Given the description of an element on the screen output the (x, y) to click on. 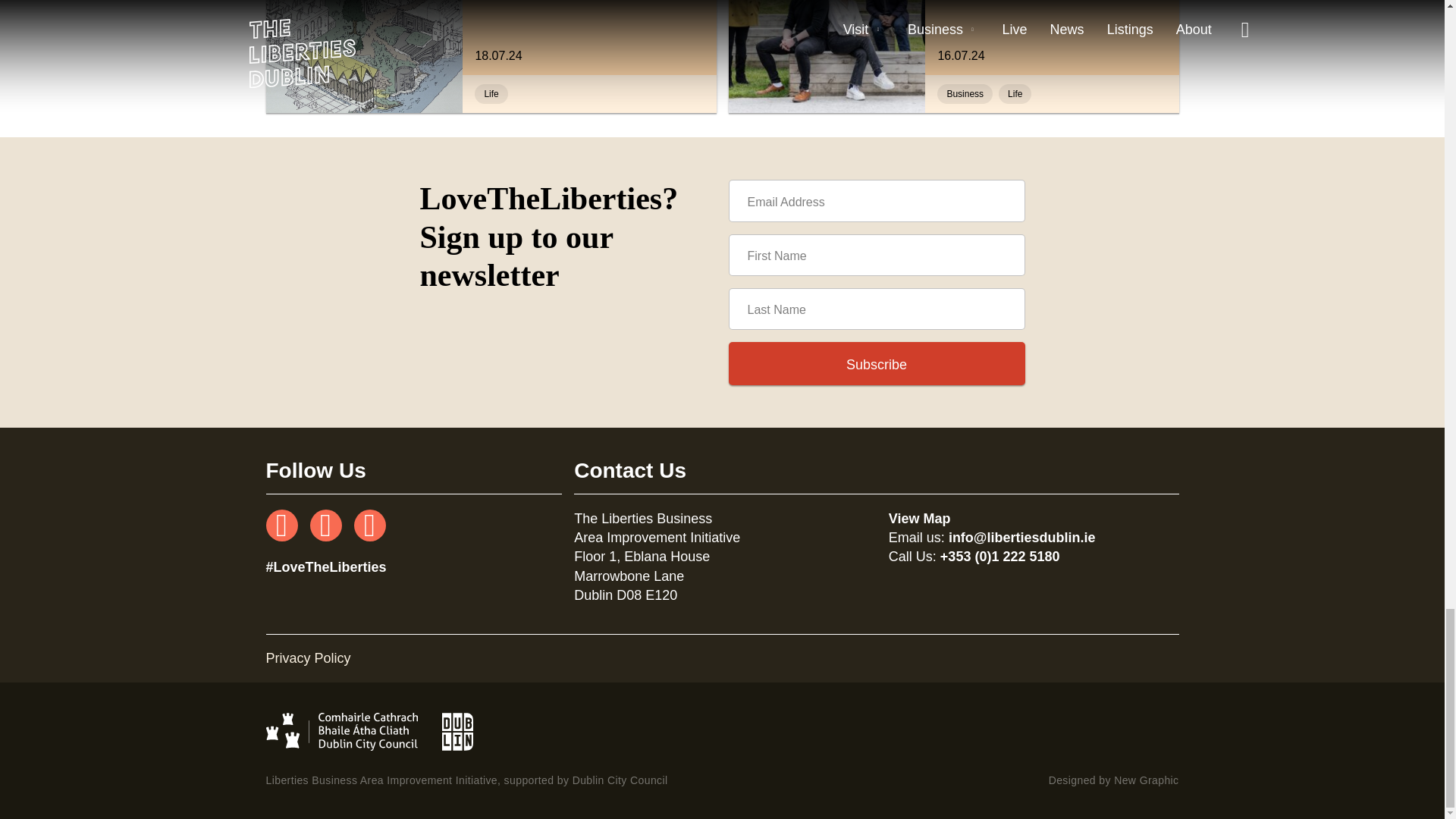
Subscribe (876, 363)
First Name (876, 255)
Business (964, 94)
Life (490, 94)
Email Address (876, 200)
Subscribe (589, 37)
Life (876, 363)
Last Name (1050, 37)
